Given the description of an element on the screen output the (x, y) to click on. 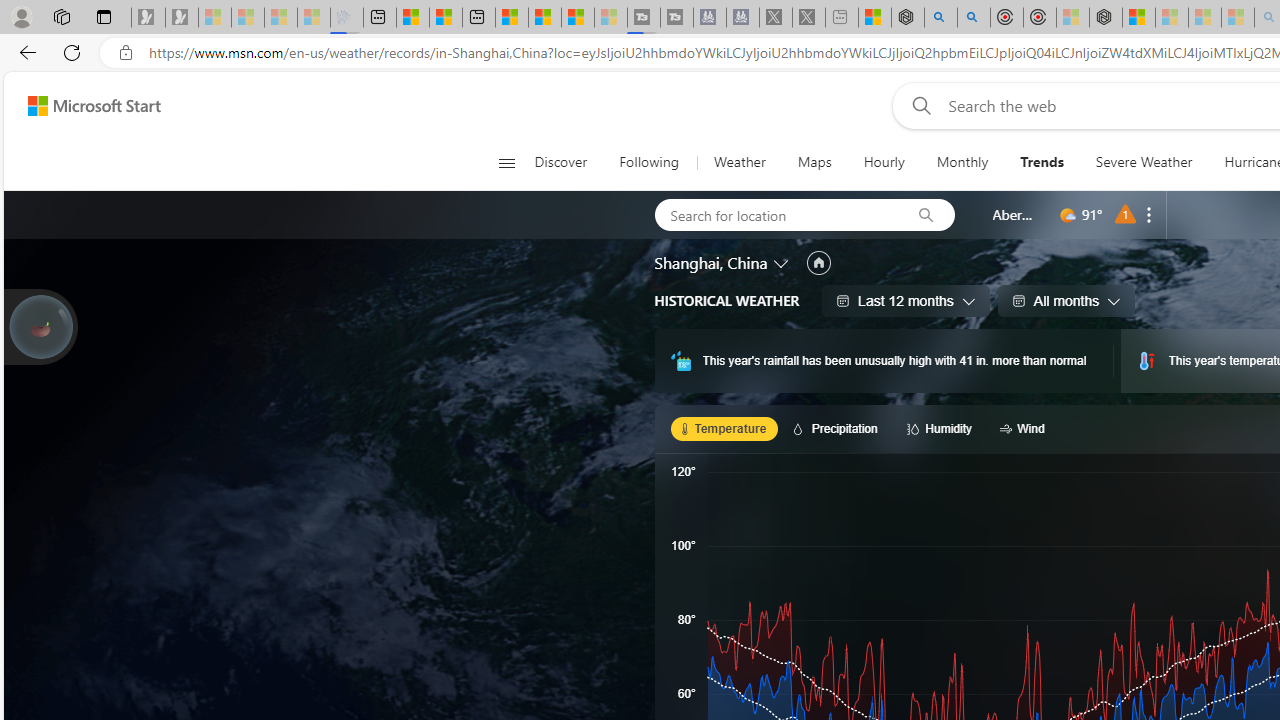
Aberdeen (1014, 214)
Trends (1041, 162)
Following (648, 162)
X - Sleeping (808, 17)
Join us in planting real trees to help our planet! (40, 327)
New tab (479, 17)
Hourly (883, 162)
Monthly (962, 162)
Last 12 months (905, 300)
poe ++ standard - Search (973, 17)
